Given the description of an element on the screen output the (x, y) to click on. 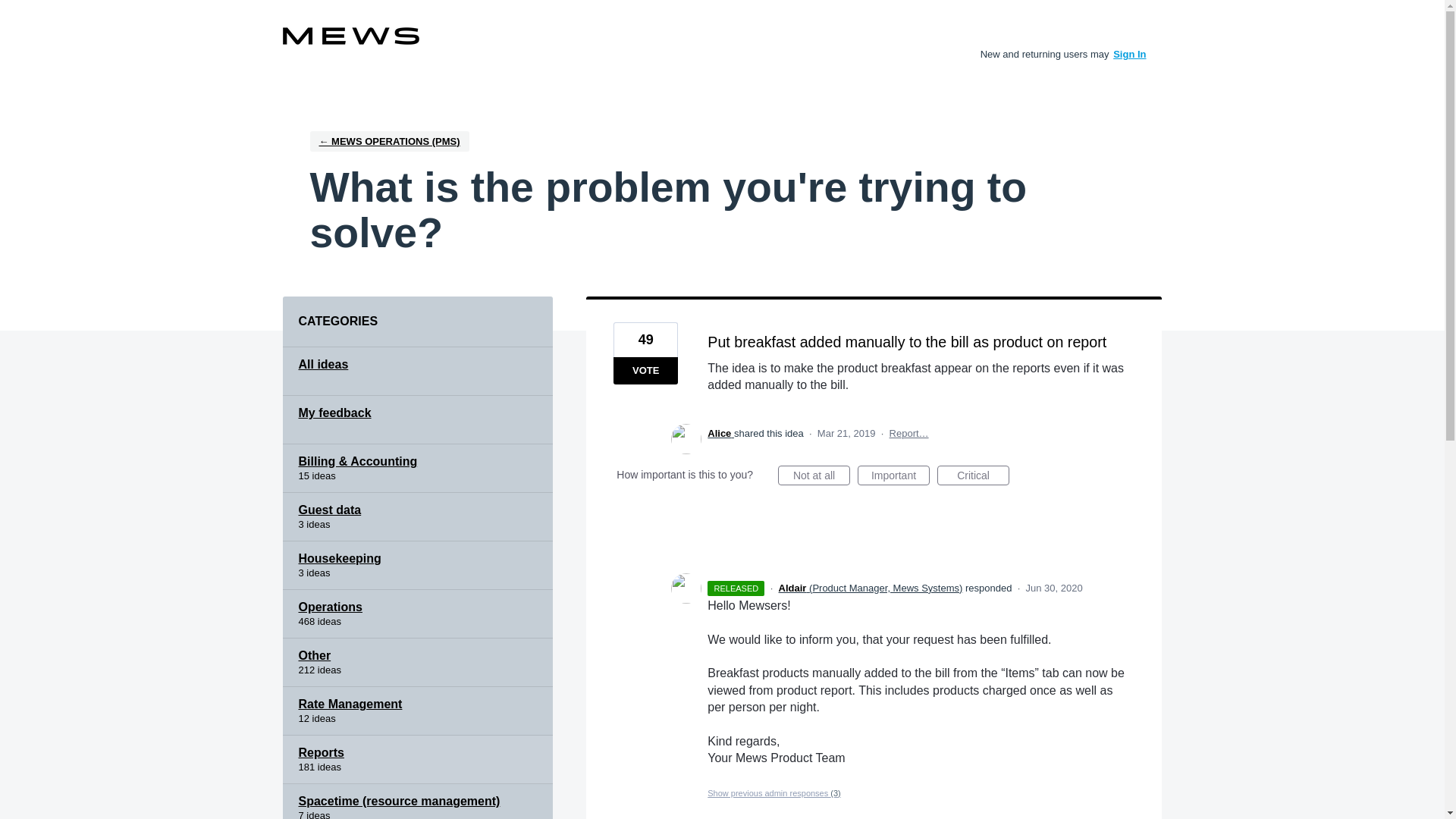
View all ideas in category Guest data (417, 517)
View all ideas in category Operations (417, 613)
Sign In (1129, 53)
View all ideas in category Housekeeping (417, 565)
View all ideas in category Reports (417, 759)
Product Ideas Forum (350, 36)
View all ideas in category Rate Management (417, 711)
All ideas (417, 371)
Housekeeping (417, 565)
My feedback (417, 419)
